Given the description of an element on the screen output the (x, y) to click on. 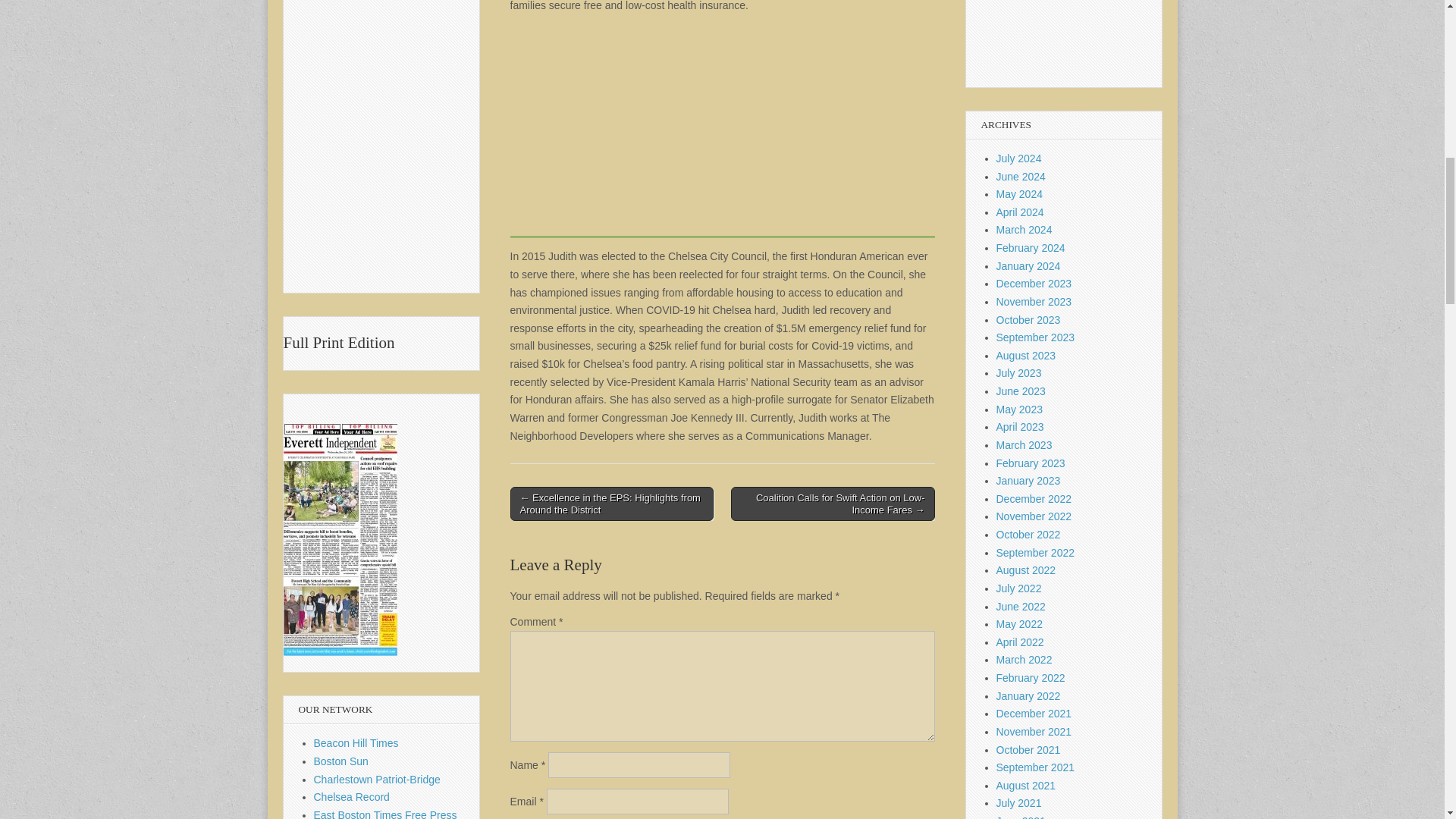
Charlestown Patriot-Bridge (377, 779)
Boston Sun (341, 761)
Chelsea Record (352, 797)
Advertisement (721, 131)
East Boston Times Free Press (385, 814)
Beacon Hill Times (356, 743)
